Given the description of an element on the screen output the (x, y) to click on. 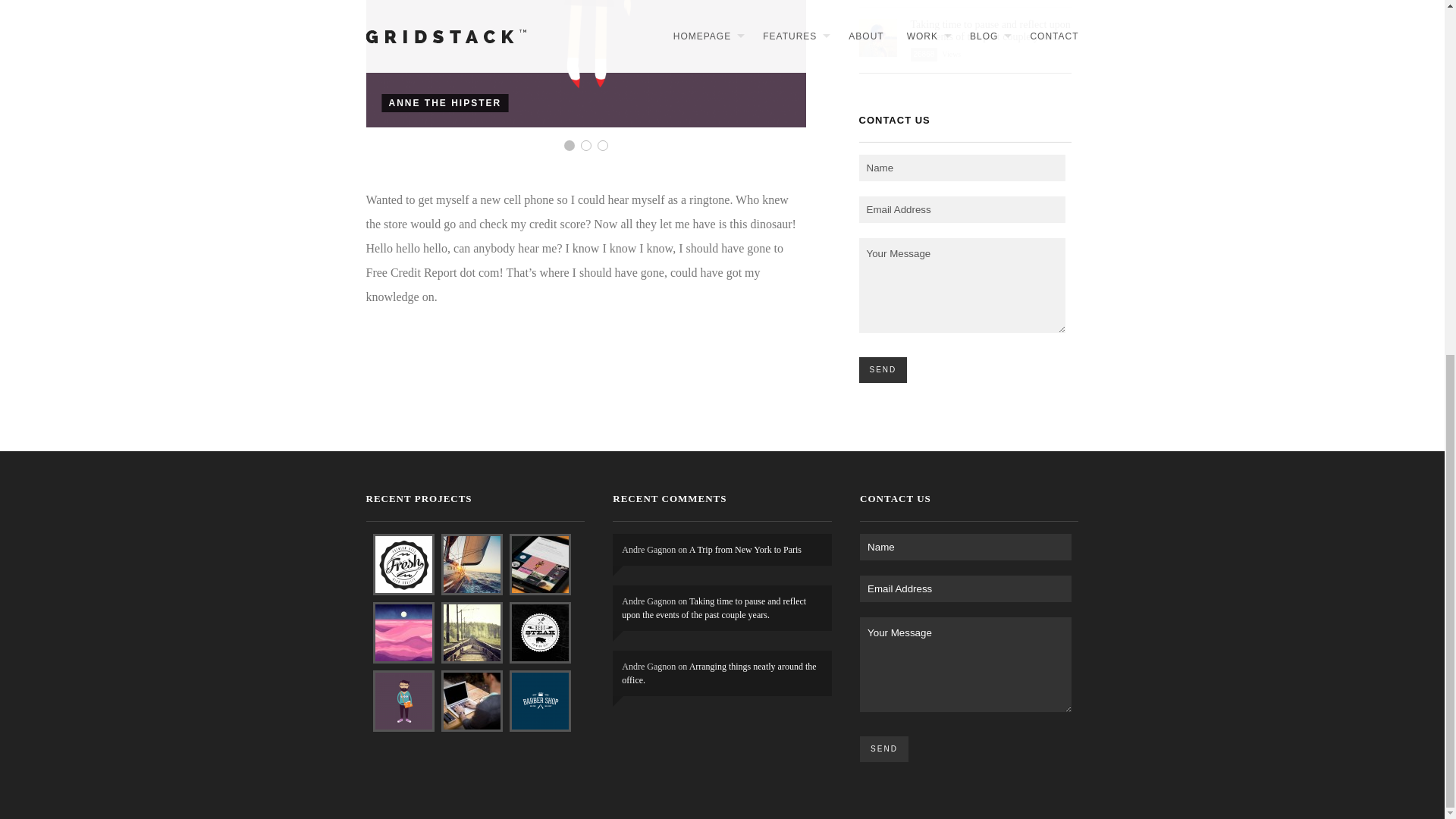
Send (883, 370)
Name (961, 167)
Name (965, 546)
Email Address (961, 209)
Send (884, 749)
Instagraming before it was cool. (585, 63)
Email Address (965, 588)
